Given the description of an element on the screen output the (x, y) to click on. 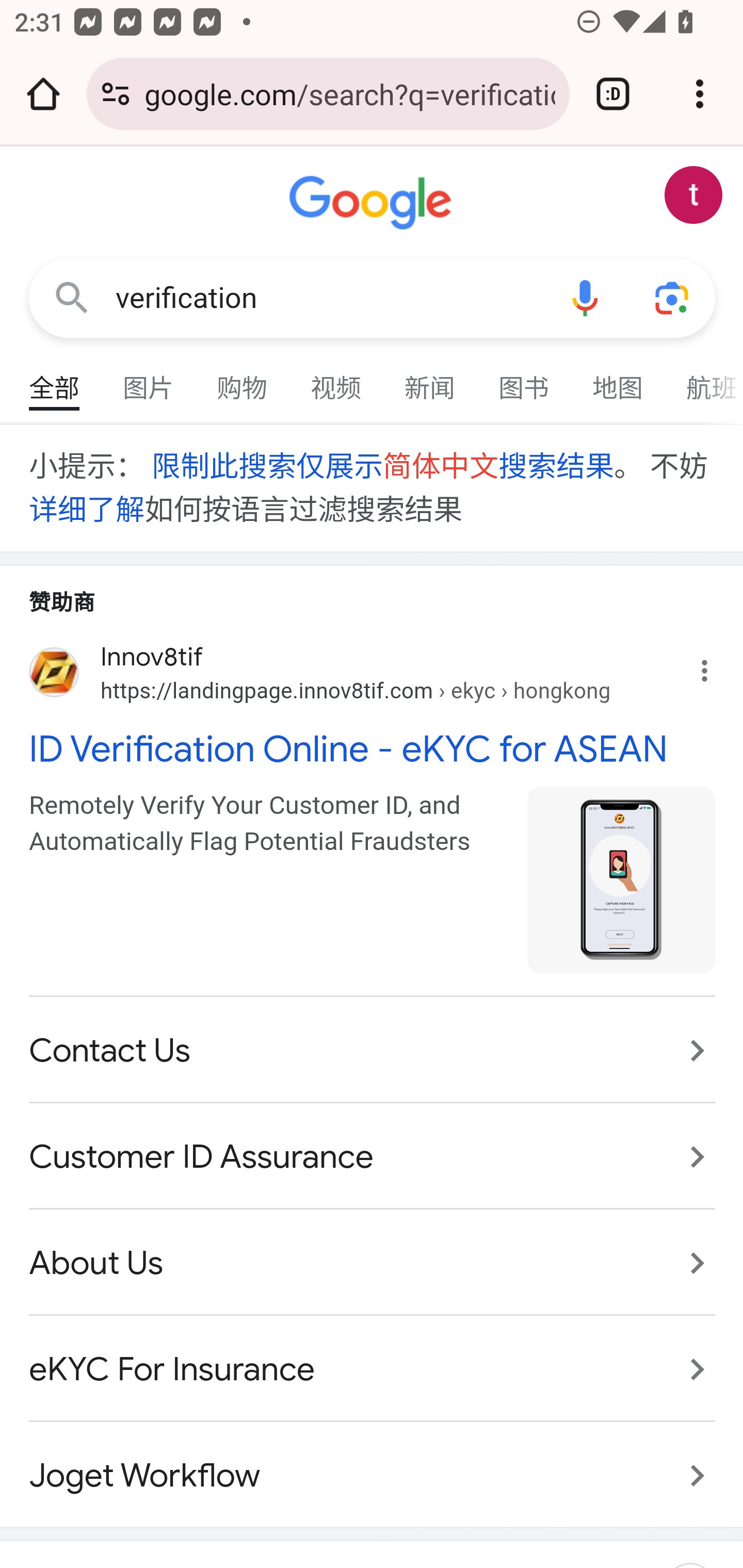
Open the home page (43, 93)
Connection is secure (115, 93)
Switch or close tabs (612, 93)
Customize and control Google Chrome (699, 93)
Google (372, 203)
Google 账号： test appium (testappium002@gmail.com) (694, 195)
Google 搜索 (71, 296)
使用拍照功能或照片进行搜索 (672, 296)
verification (328, 297)
图片 (148, 378)
购物 (242, 378)
视频 (336, 378)
新闻 (430, 378)
图书 (524, 378)
地图 (618, 378)
航班 (703, 378)
限制此搜索仅展示简体中文搜索结果 限制此搜索仅展示 简体中文 搜索结果 (381, 467)
详细了解 (86, 509)
为什么会显示该广告？ (714, 665)
ID Verification Online - eKYC for ASEAN (372, 749)
图片来自 innov8tif.com (621, 880)
Contact Us (372, 1051)
Customer ID Assurance (372, 1157)
About Us (372, 1262)
eKYC For Insurance (372, 1369)
Joget Workflow (372, 1464)
